Given the description of an element on the screen output the (x, y) to click on. 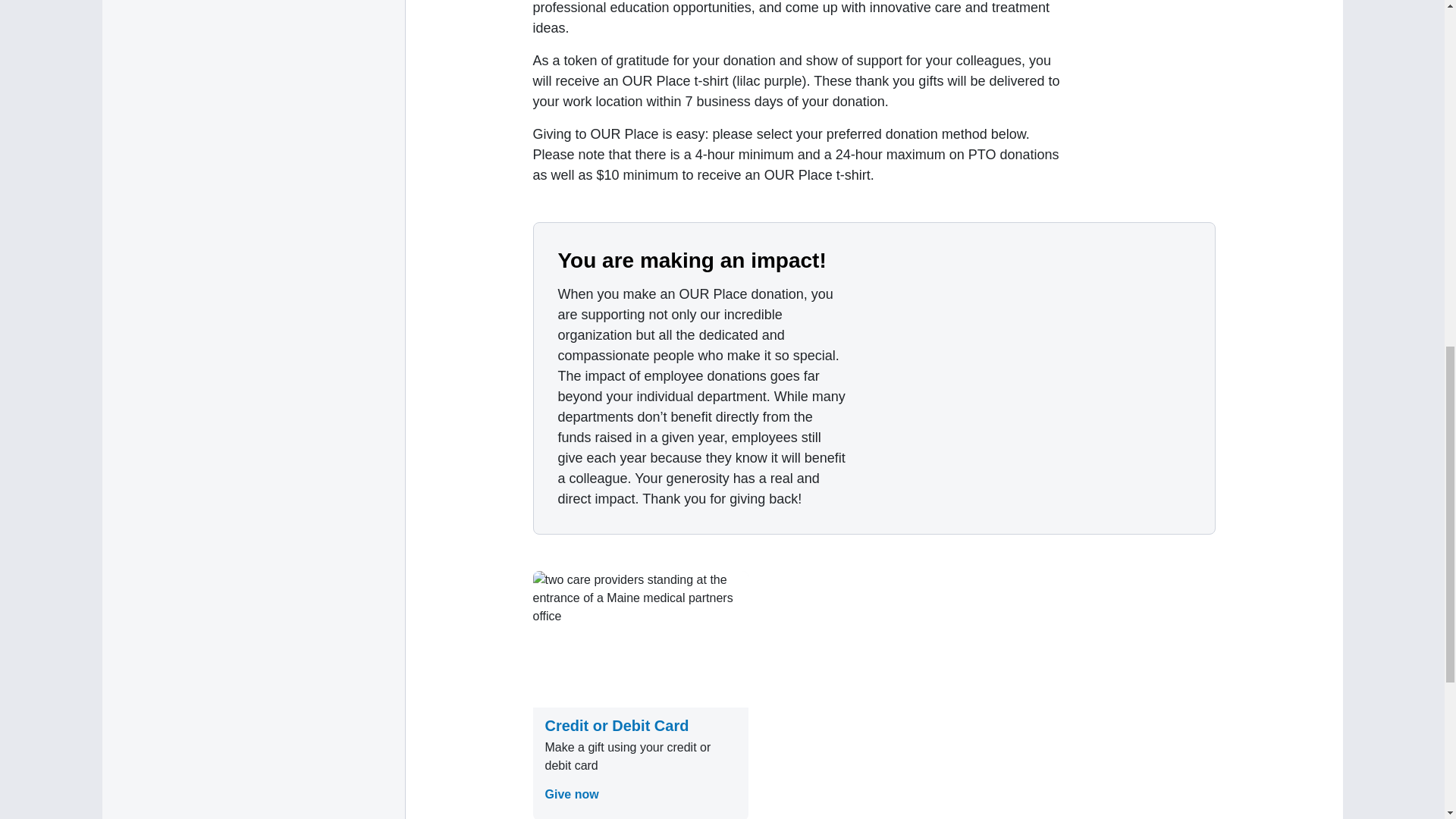
Credit or Debit Card (616, 725)
OUR Place 2024 (1043, 377)
Give now (571, 793)
